Given the description of an element on the screen output the (x, y) to click on. 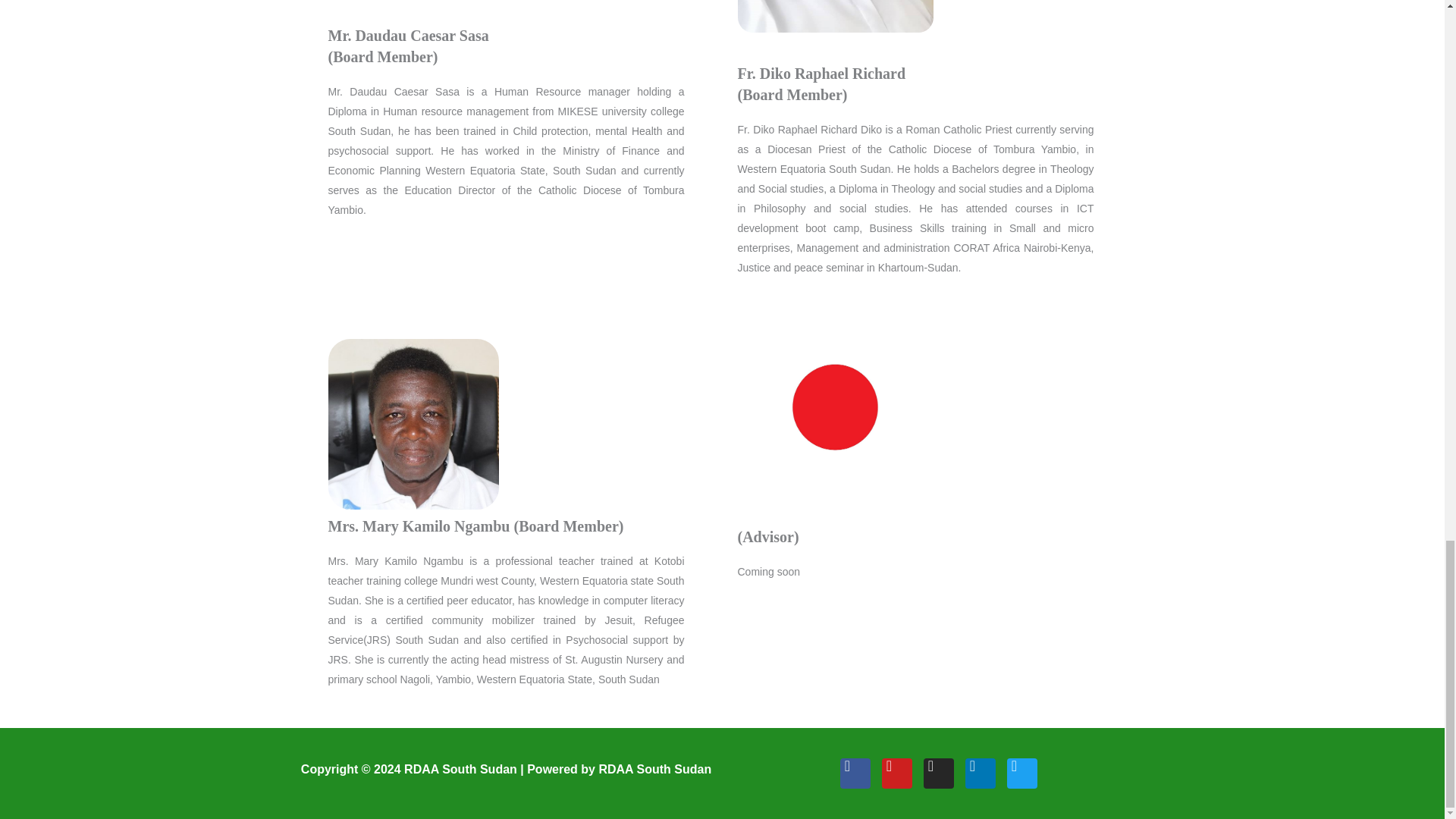
Facebook (855, 773)
Linkedin (978, 773)
Mrs Kamilo (413, 424)
japan (834, 407)
Fr Raphael (834, 16)
Youtube (895, 773)
Instagram (938, 773)
